Given the description of an element on the screen output the (x, y) to click on. 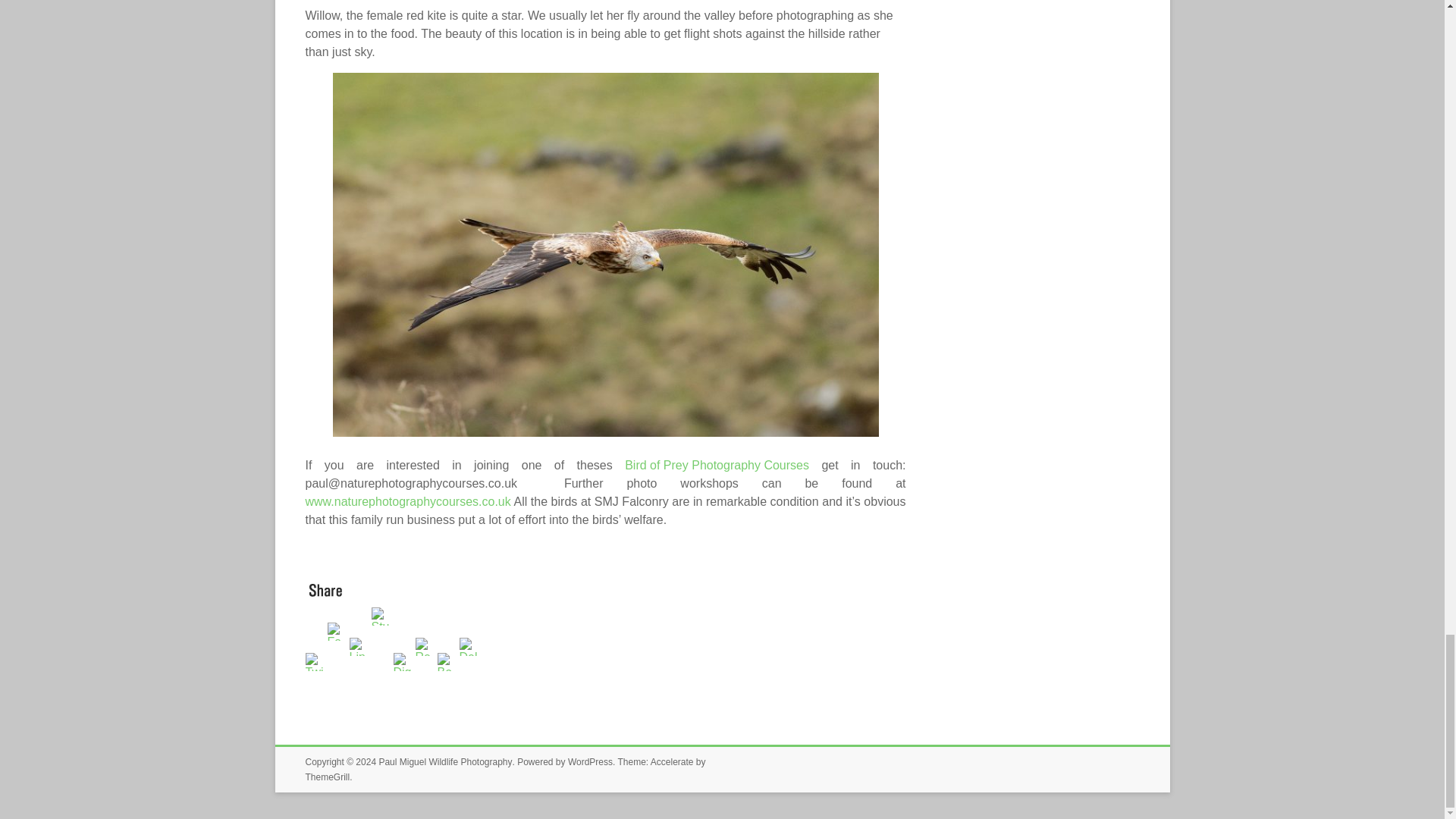
Bebo (447, 680)
Linkedin (360, 680)
Facebook (338, 680)
Twitter (315, 680)
Reddit (426, 680)
Delicious (470, 680)
Digg (403, 680)
StumbleUpon (382, 680)
